Given the description of an element on the screen output the (x, y) to click on. 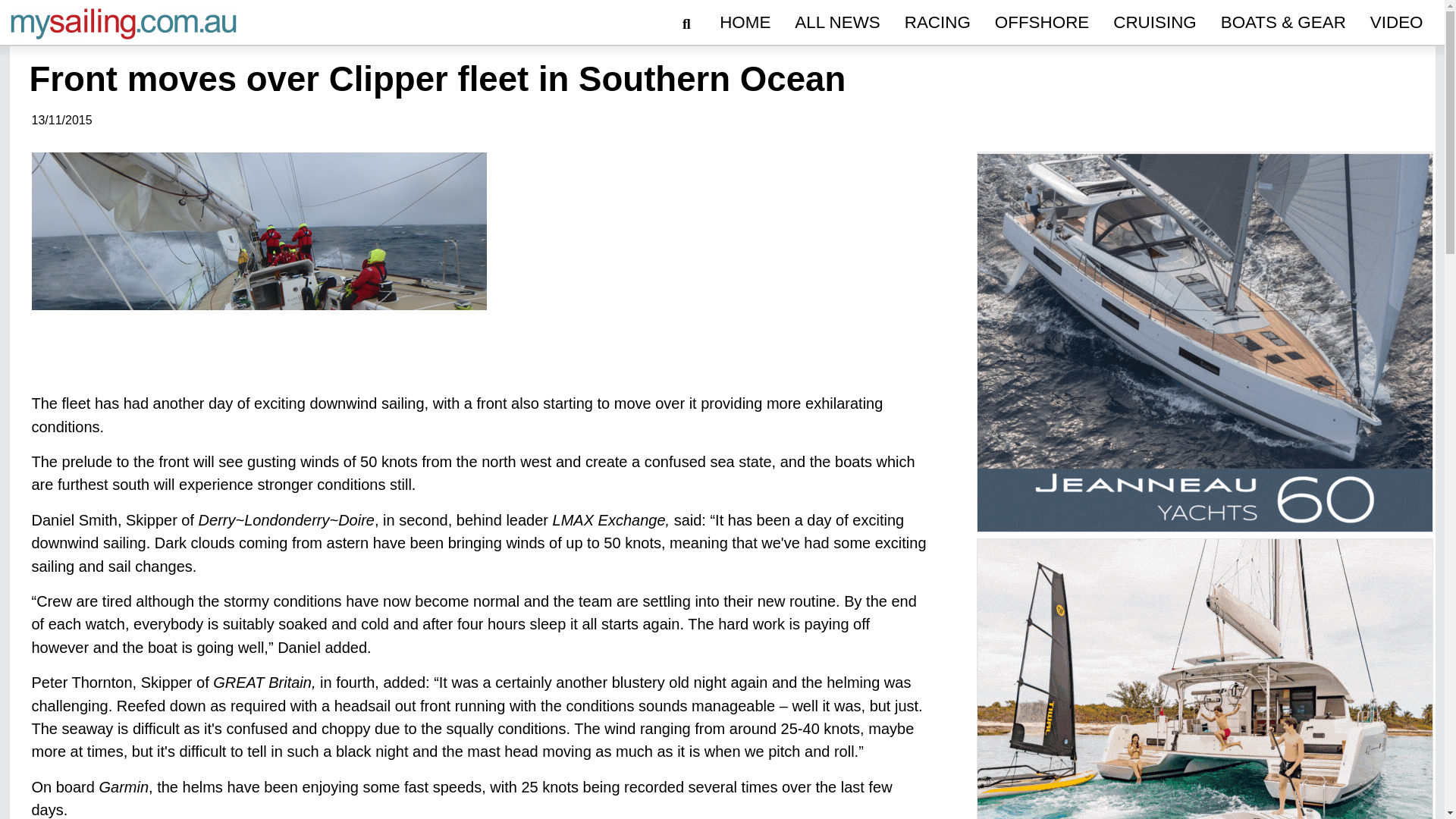
ALL NEWS (837, 22)
All News (837, 22)
CRUISING (1154, 22)
Cruising (1154, 22)
Home (744, 22)
Video (1396, 22)
RACING (937, 22)
VIDEO (1396, 22)
Racing (937, 22)
OFFSHORE (1041, 22)
HOME (744, 22)
Offshore (1041, 22)
